Given the description of an element on the screen output the (x, y) to click on. 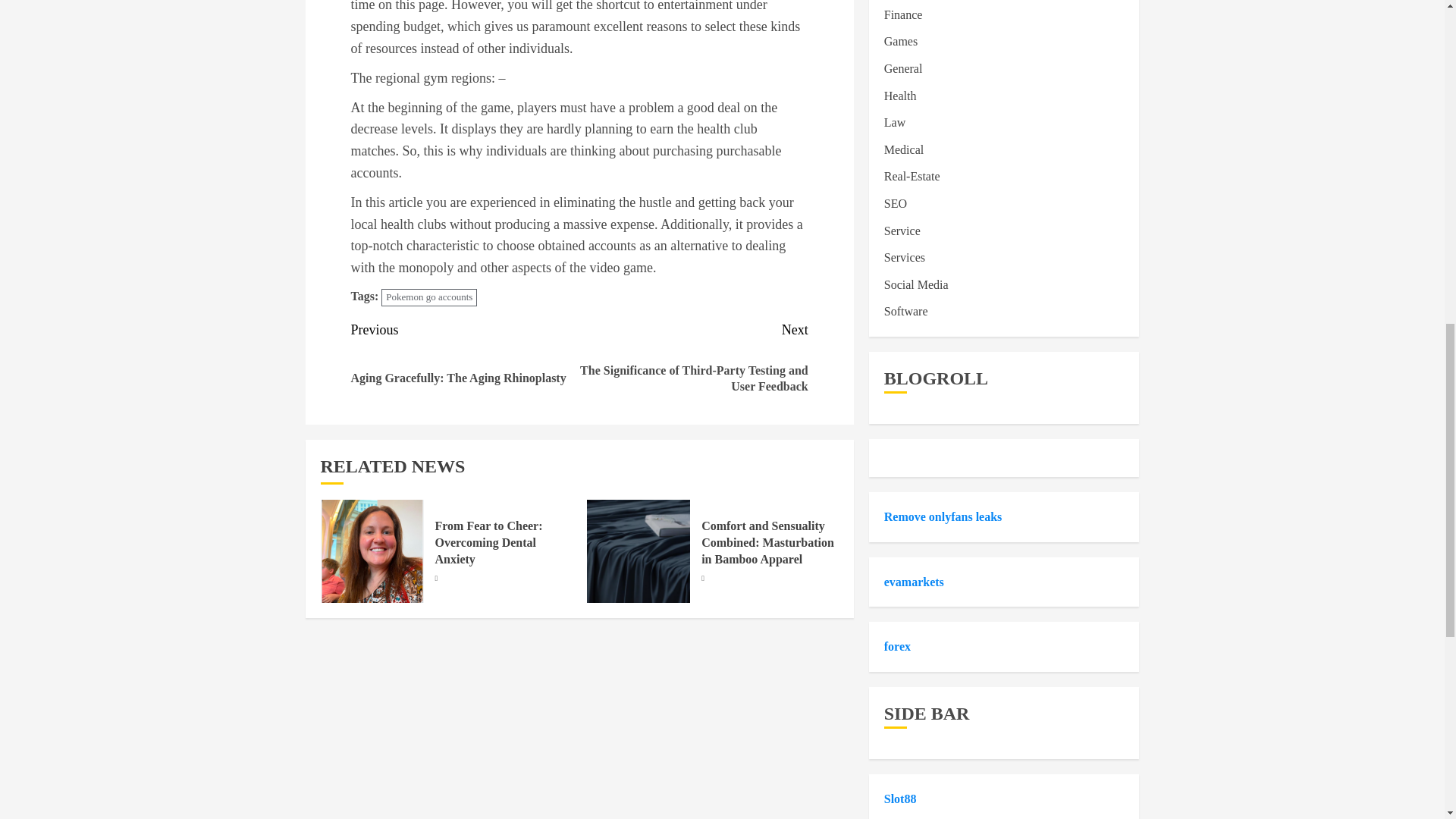
Games (900, 41)
Pokemon go accounts (429, 297)
General (903, 69)
Finance (903, 15)
From Fear to Cheer: Overcoming Dental Anxiety (489, 543)
